Given the description of an element on the screen output the (x, y) to click on. 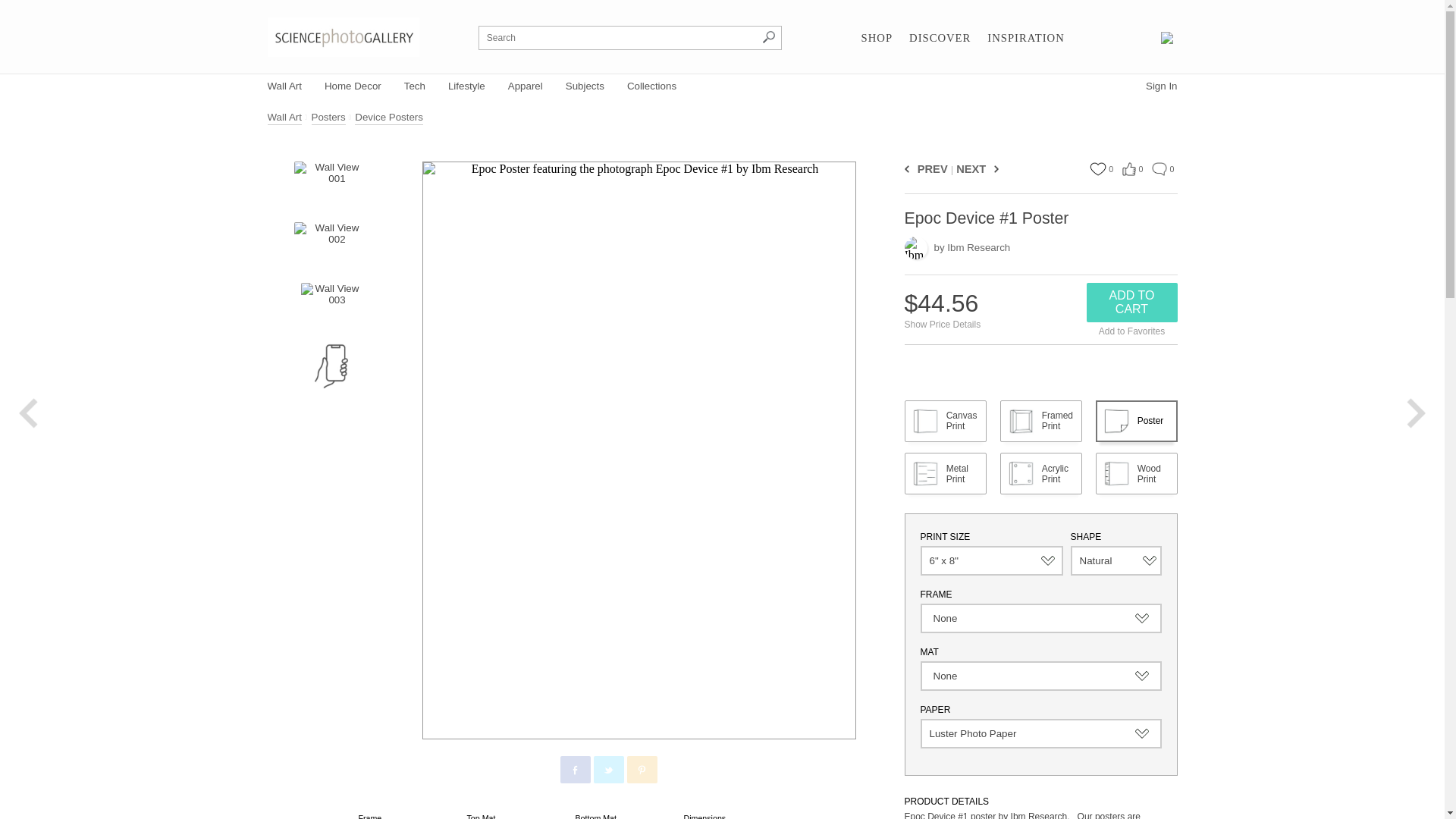
Wall View 003 (330, 305)
Share Product on Facebook (574, 768)
Launch Mobile App (330, 366)
Comment (1158, 169)
Share Product on Twitter (607, 768)
Science Photo Gallery - Buy Art Online (342, 36)
Wall View 001 (330, 184)
Wall View 002 (330, 244)
Favorite (1097, 169)
Pinterest (642, 769)
